Given the description of an element on the screen output the (x, y) to click on. 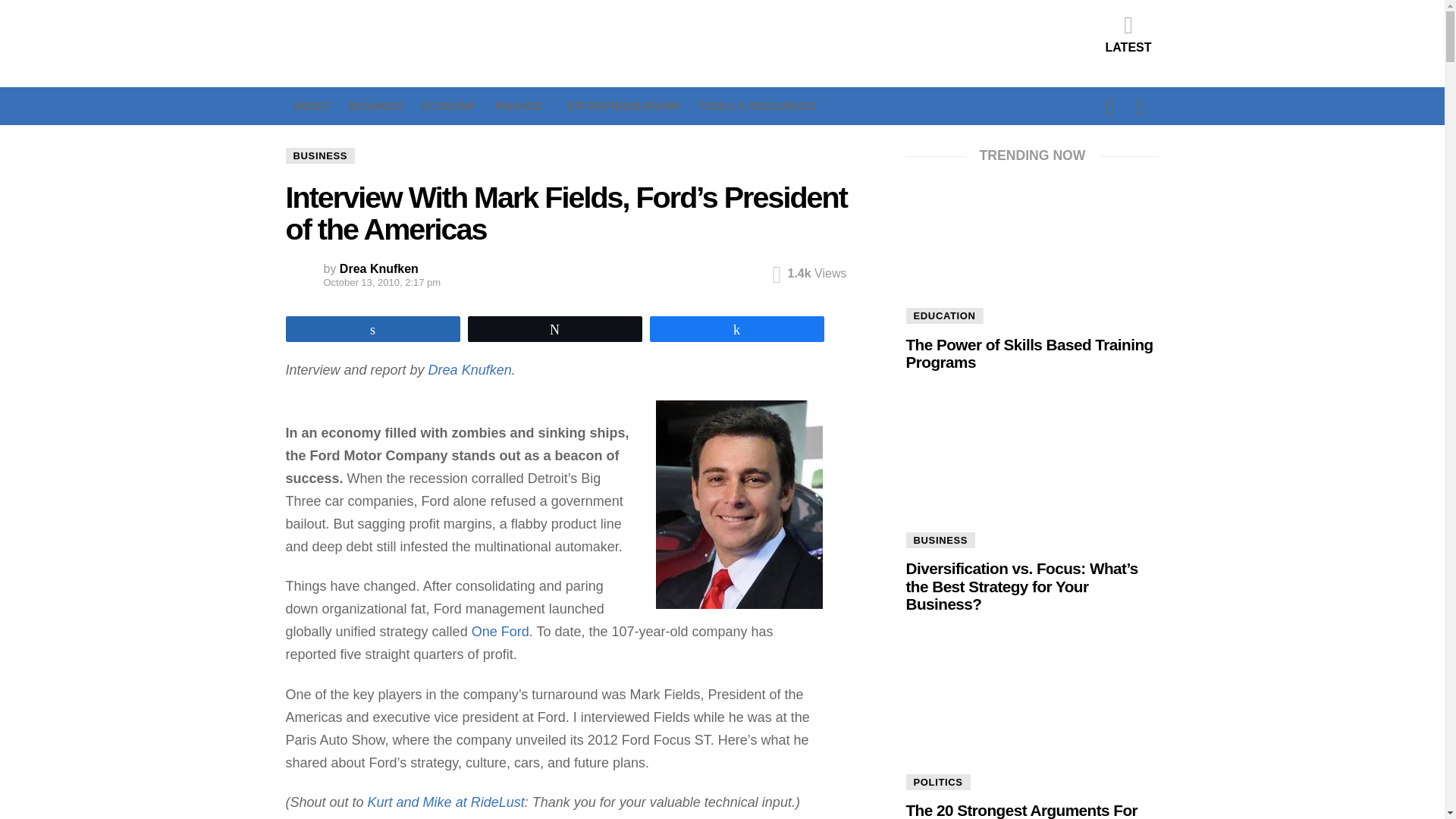
ABOUT (311, 105)
Posts by Drea Knufken (379, 268)
Kurt and Mike at RideLust (446, 801)
Drea Knufken (379, 268)
ENTREPRENEURSHIP (623, 105)
One Ford (500, 631)
BUSINESS (320, 155)
October 13, 2010, 2:17 pm (355, 282)
BUSINESS (376, 105)
FINANCE (521, 105)
